Given the description of an element on the screen output the (x, y) to click on. 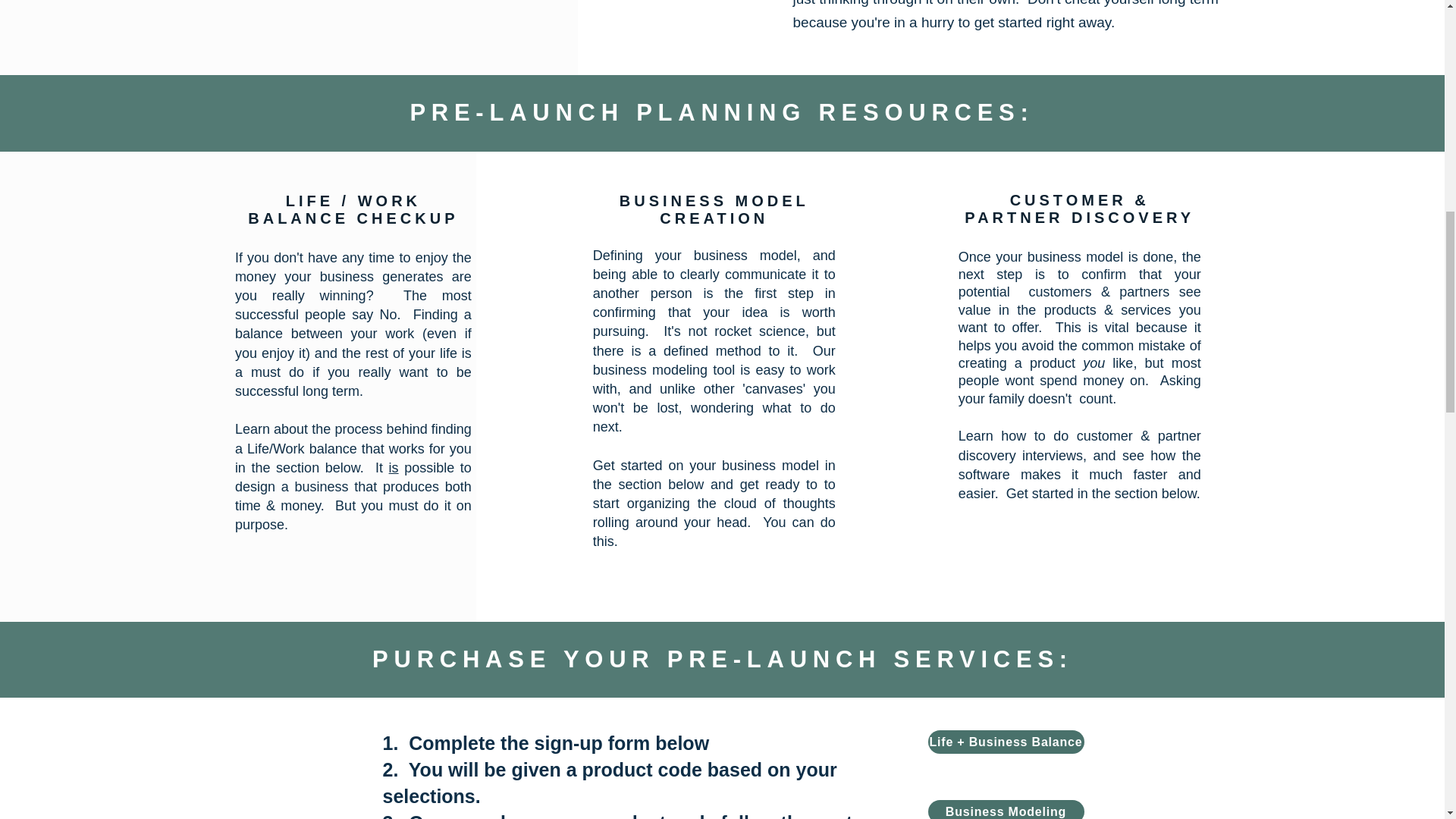
BUSINESS MODEL CREATION (714, 209)
Business Modeling (1006, 809)
